Given the description of an element on the screen output the (x, y) to click on. 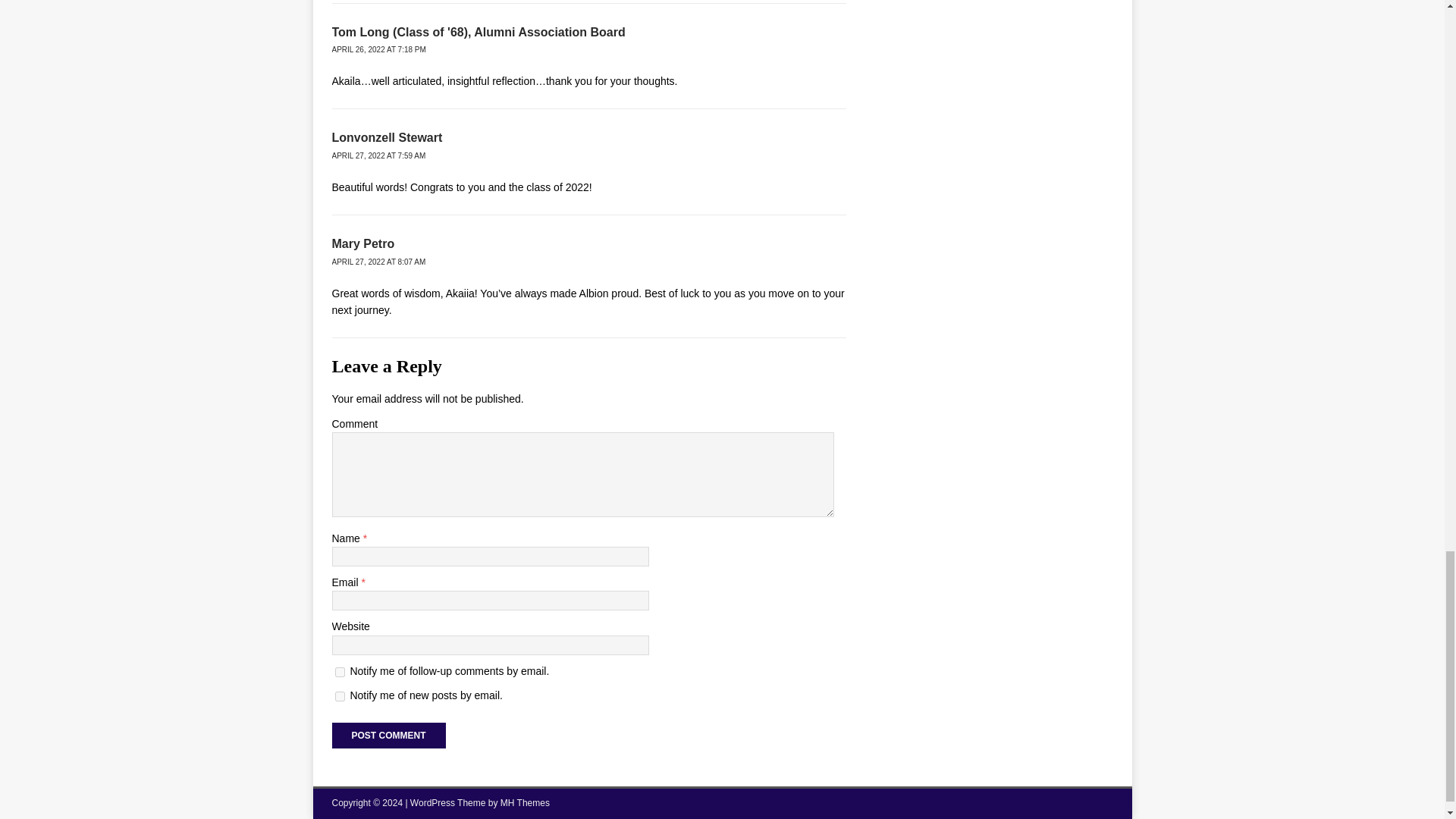
Post Comment (388, 735)
APRIL 27, 2022 AT 7:59 AM (378, 155)
Post Comment (388, 735)
MH Themes (525, 802)
subscribe (339, 696)
subscribe (339, 671)
APRIL 27, 2022 AT 8:07 AM (378, 261)
APRIL 26, 2022 AT 7:18 PM (378, 49)
